Given the description of an element on the screen output the (x, y) to click on. 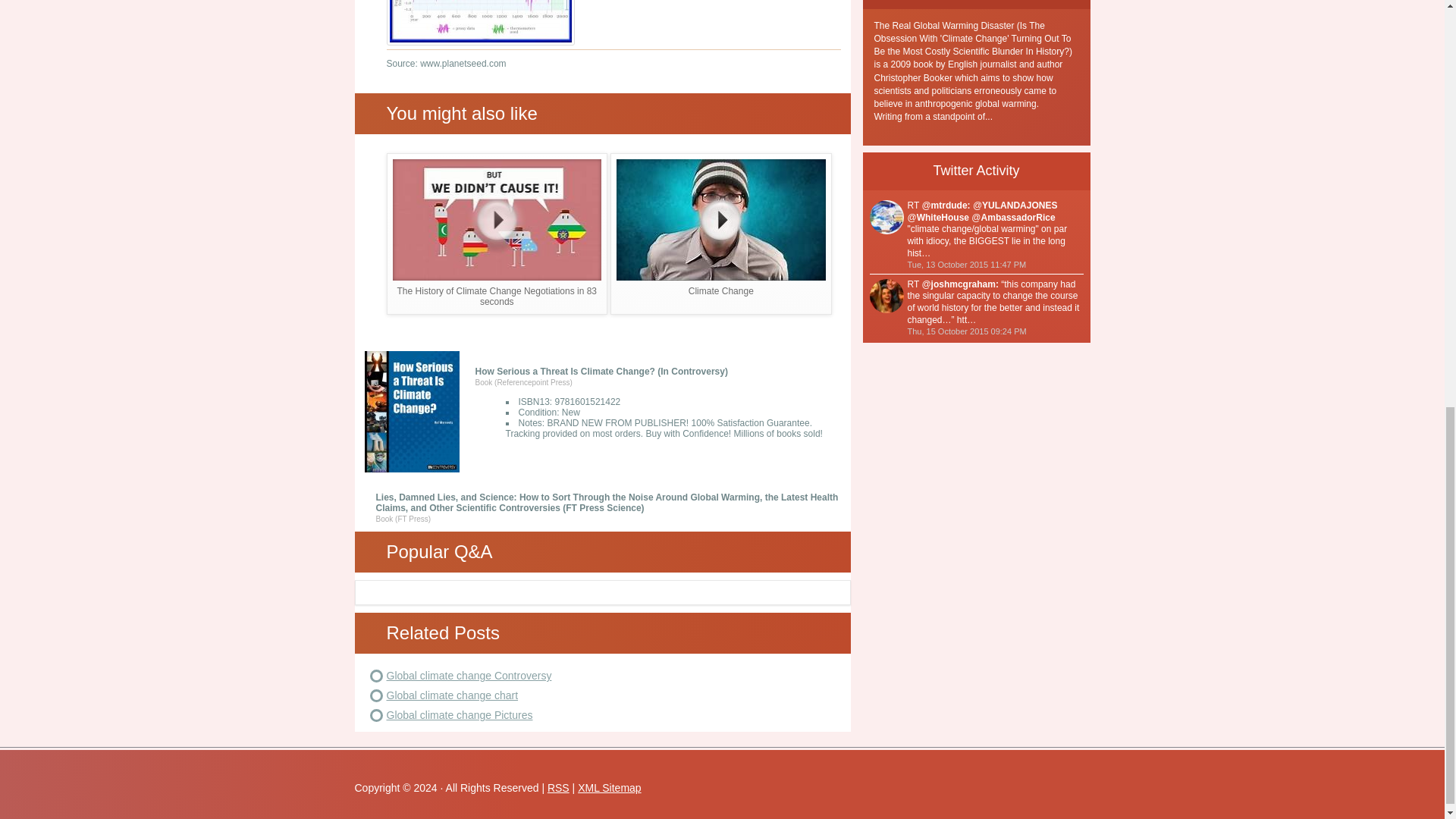
Global climate change Pictures (459, 715)
Global climate change Controversy (469, 675)
Global climate change chart (452, 695)
View this video from YouTube (720, 233)
RSS (558, 787)
View this video from YouTube (497, 233)
XML Sitemap (610, 787)
